Given the description of an element on the screen output the (x, y) to click on. 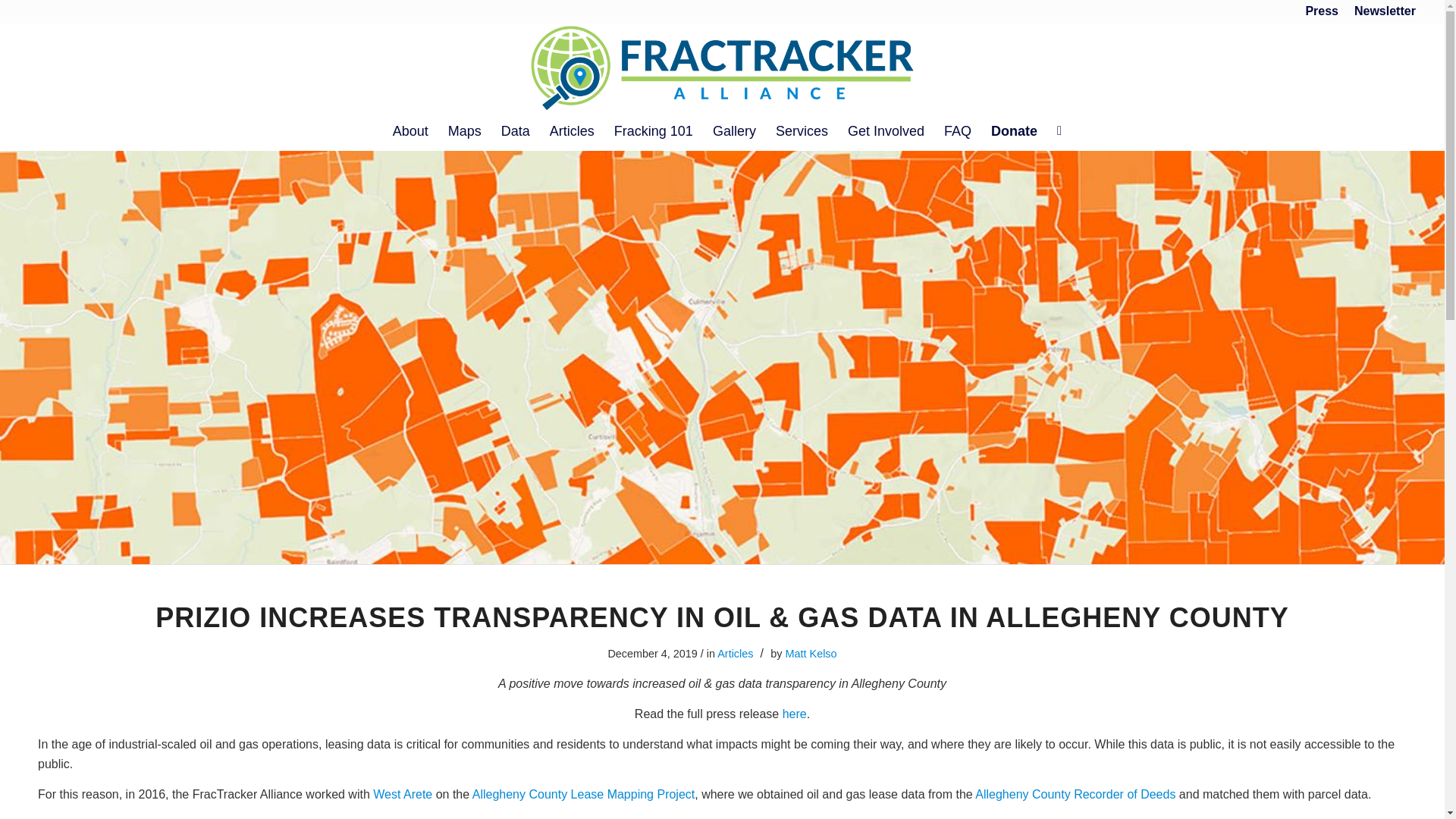
Data (516, 130)
Press (1321, 11)
Fracking 101 (653, 130)
Donate (1013, 130)
Gallery (734, 130)
2021 FracTracker logo horizontal (722, 67)
About (410, 130)
Articles (572, 130)
Newsletter (1384, 11)
Posts by Kyle Ferrar, MPH (811, 653)
